Given the description of an element on the screen output the (x, y) to click on. 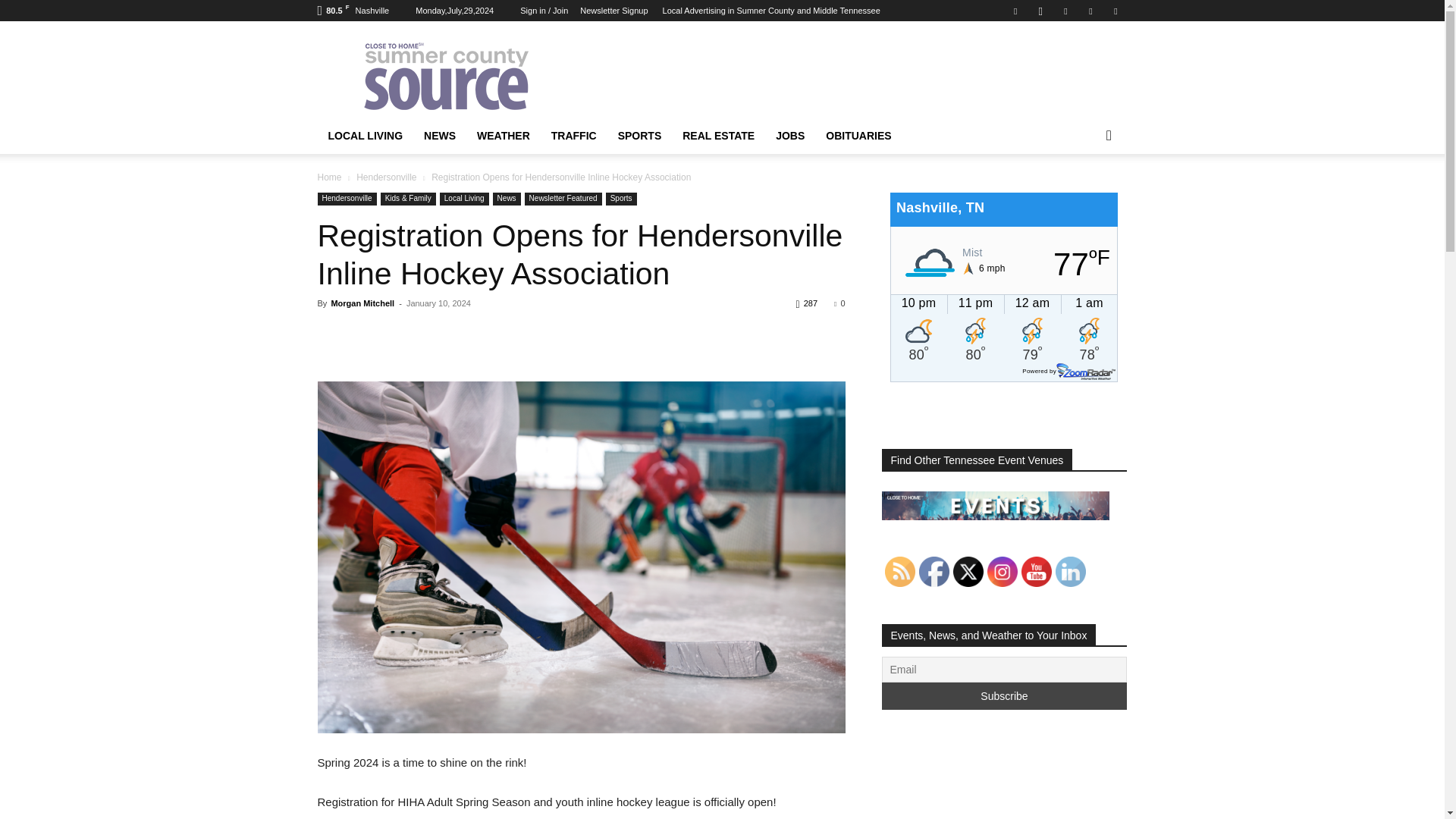
Subscribe (1003, 696)
Instagram (1040, 10)
Sumner County Source (445, 76)
Twitter (1090, 10)
Youtube (1114, 10)
Facebook (1015, 10)
Pinterest (1065, 10)
